Given the description of an element on the screen output the (x, y) to click on. 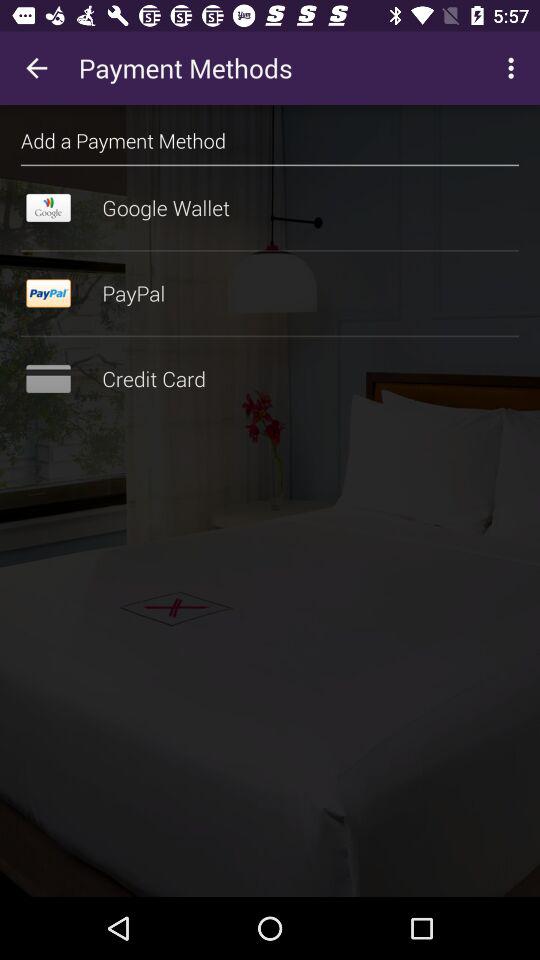
turn on the item above google wallet (270, 165)
